Given the description of an element on the screen output the (x, y) to click on. 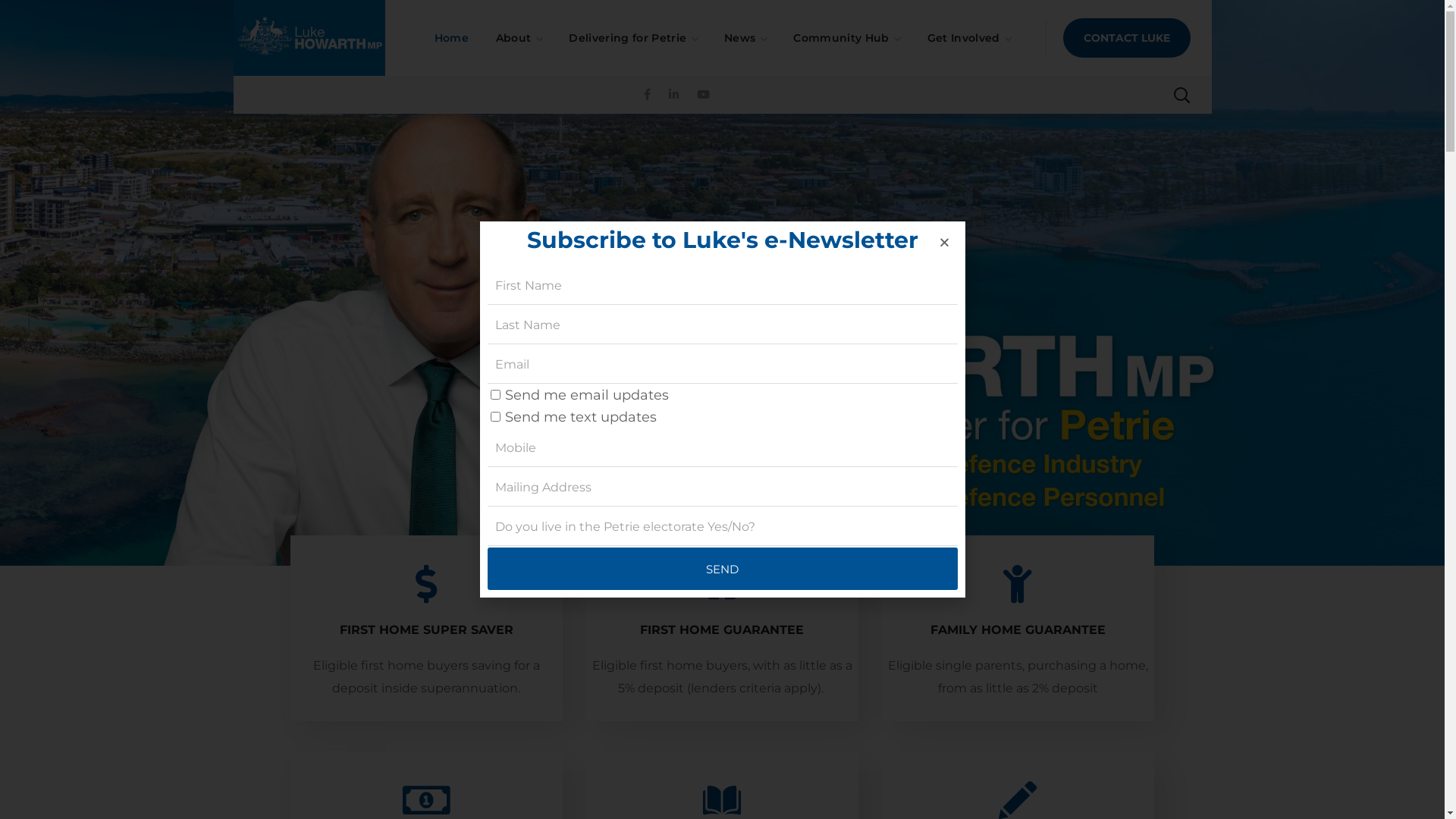
Community Hub Element type: text (846, 37)
Get Involved Element type: text (968, 37)
Search Element type: text (1141, 151)
CONTACT LUKE Element type: text (1126, 37)
About Element type: text (518, 37)
News Element type: text (744, 37)
SEND Element type: text (721, 568)
Home Element type: text (451, 37)
Delivering for Petrie Element type: text (632, 37)
